Given the description of an element on the screen output the (x, y) to click on. 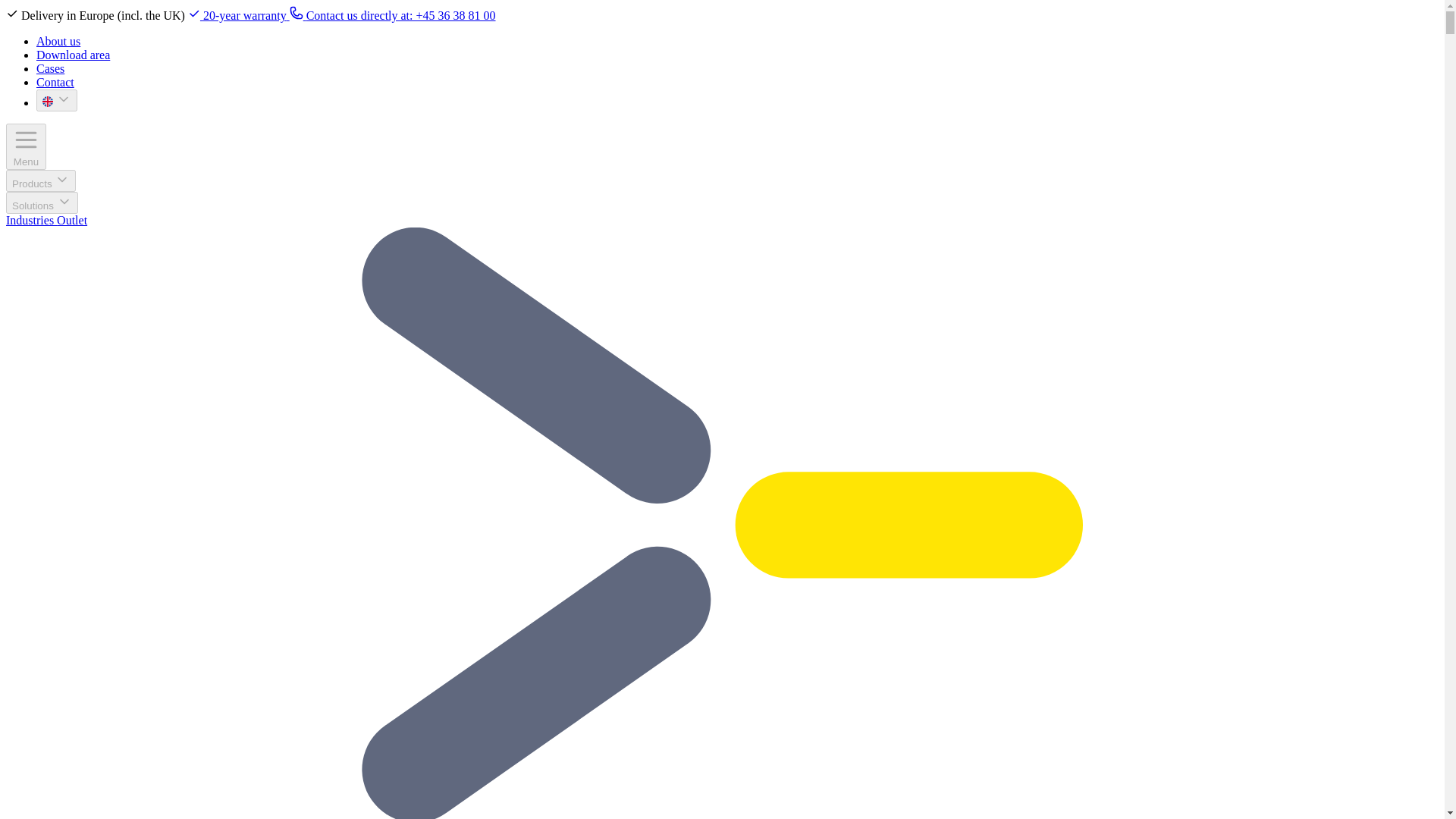
20-year warranty (238, 15)
Download area (73, 54)
Cases (50, 68)
Menu (25, 146)
Industries (30, 219)
Products (40, 180)
Contact (55, 82)
About us (58, 41)
Outlet (71, 219)
Solutions (41, 202)
